Given the description of an element on the screen output the (x, y) to click on. 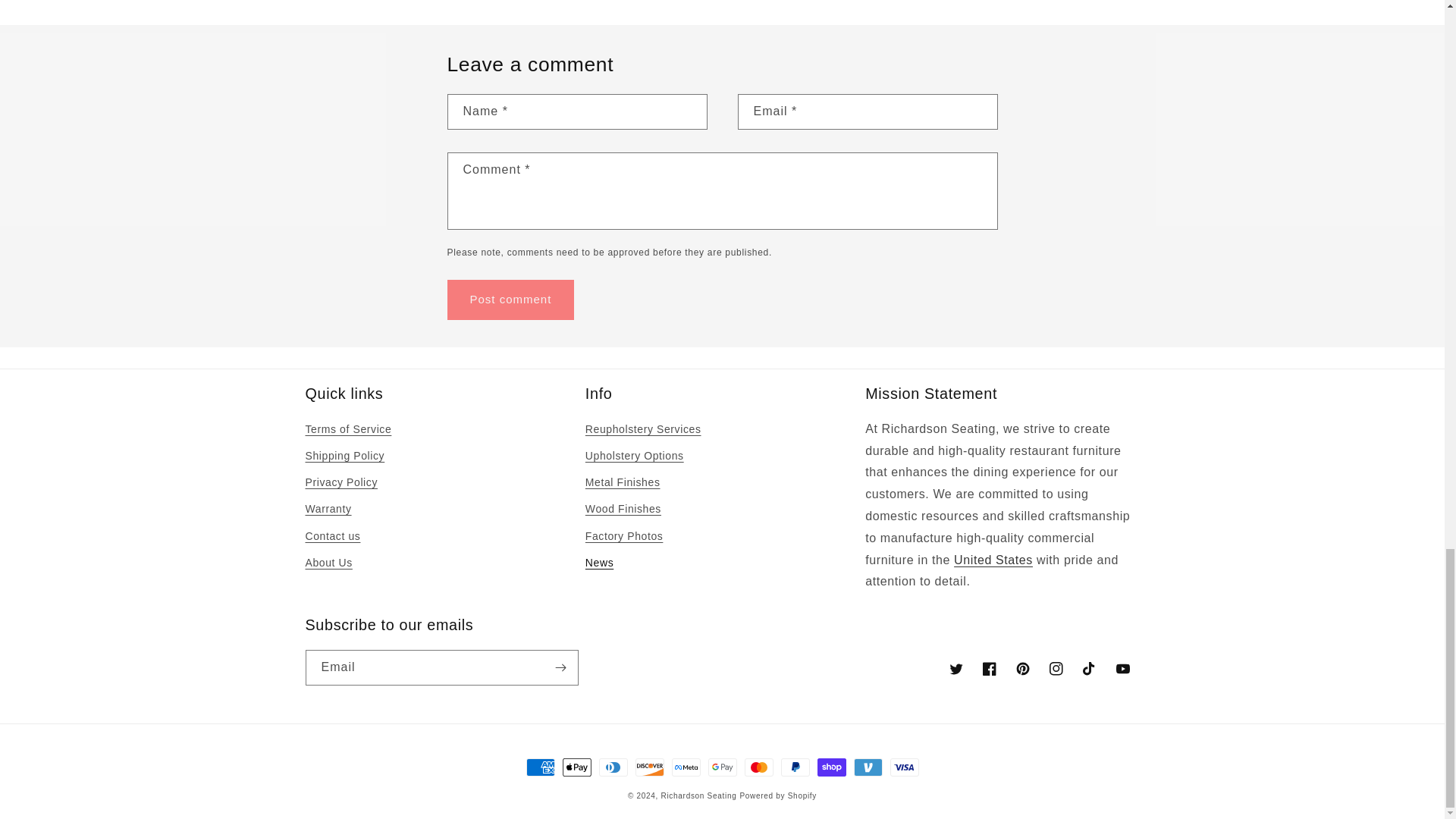
Post comment (510, 300)
Areas that We Serve (992, 559)
